Given the description of an element on the screen output the (x, y) to click on. 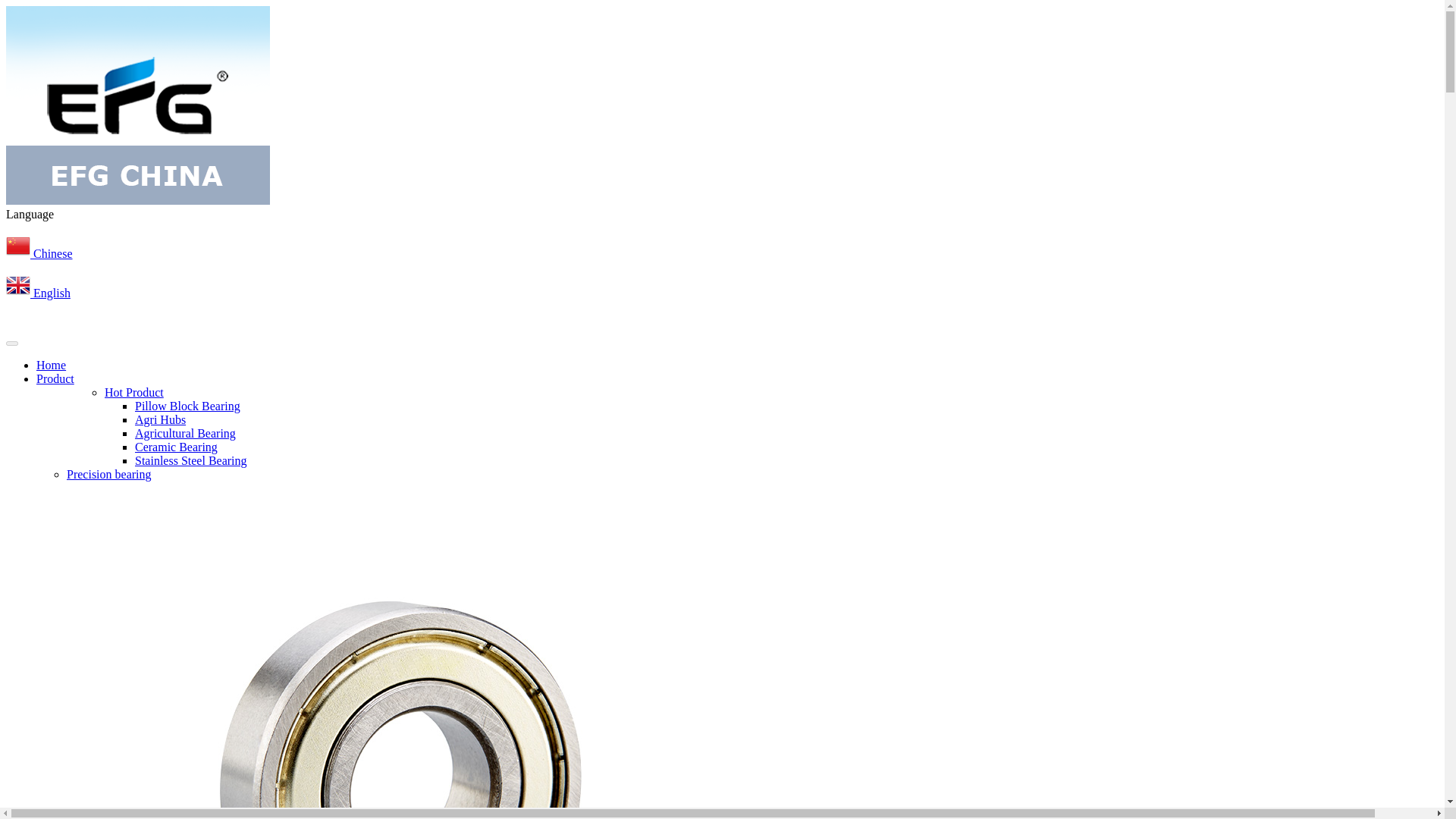
Product (55, 378)
Home (50, 364)
Home (50, 364)
Product (55, 378)
Chinese (38, 253)
Hot Product (133, 391)
Precision bearing (108, 473)
English (37, 292)
